Given the description of an element on the screen output the (x, y) to click on. 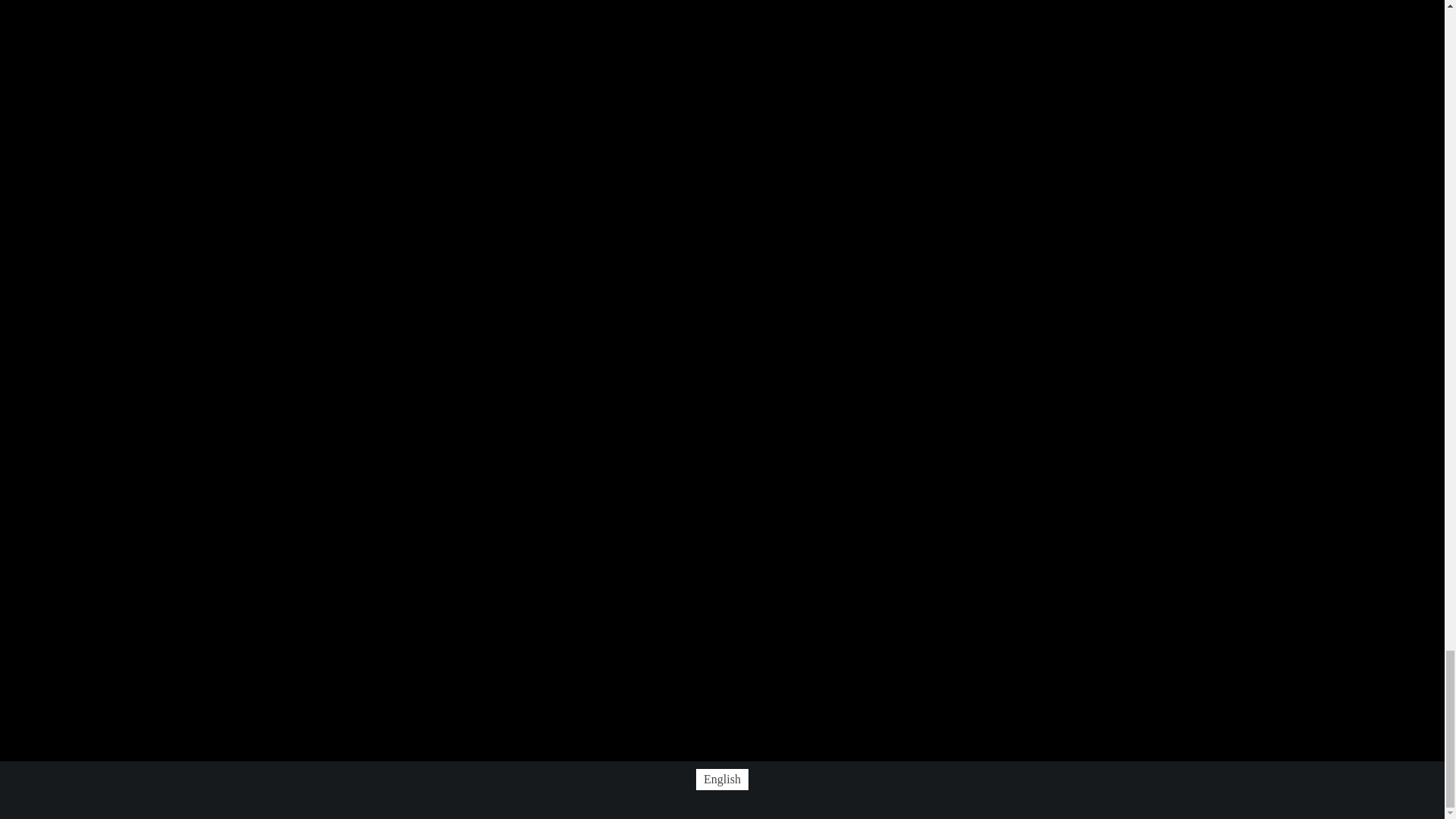
English (721, 779)
